Given the description of an element on the screen output the (x, y) to click on. 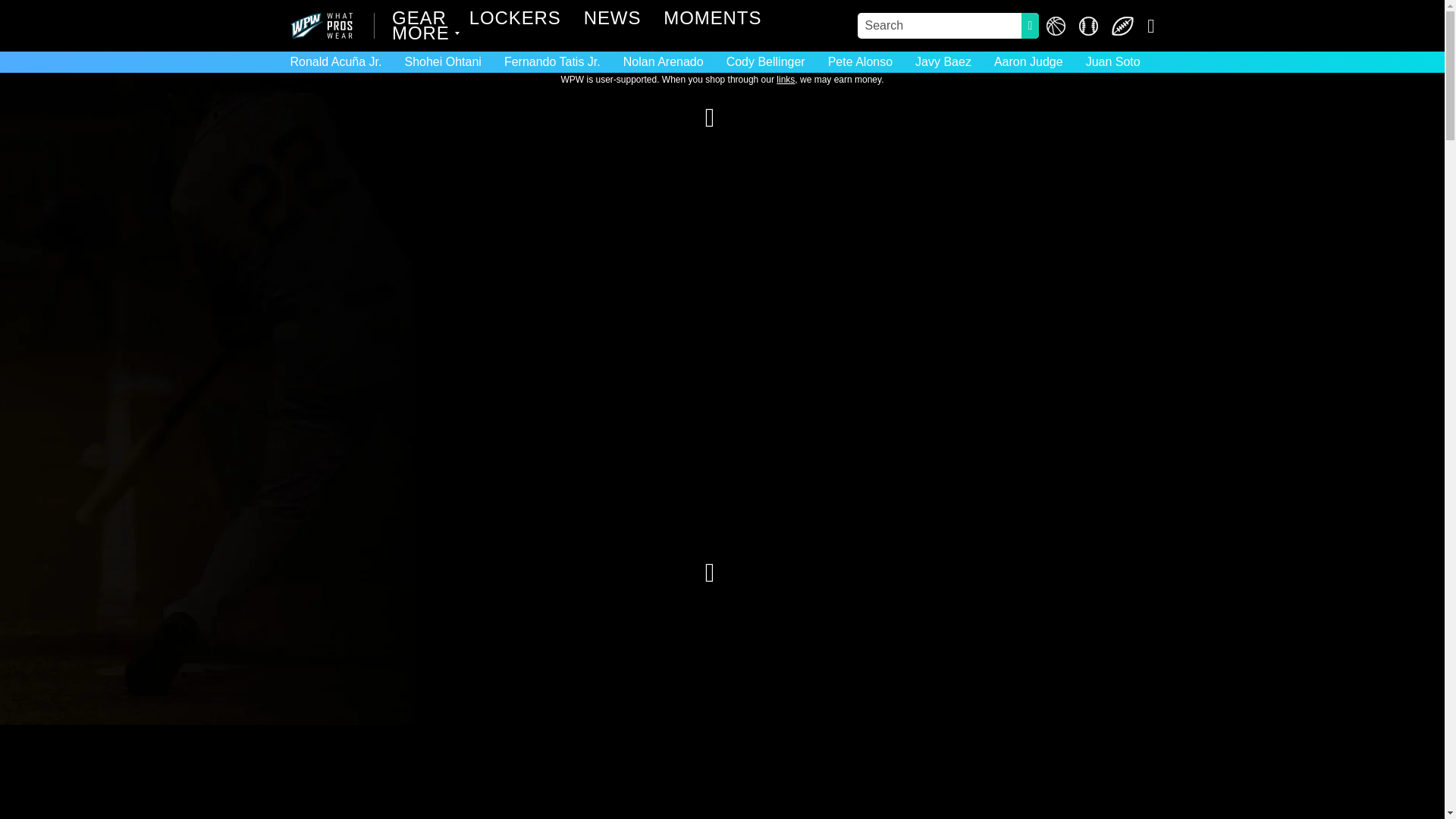
Nolan Arenado (662, 60)
MORE (421, 35)
Fernando Tatis Jr. (552, 60)
Lockers (514, 20)
Aaron Judge (1028, 60)
LOCKERS (514, 20)
Cody Bellinger (765, 60)
More (421, 35)
Pete Alonso (860, 60)
GEAR (418, 20)
NEWS (612, 20)
Javy Baez (943, 60)
News (612, 20)
MOMENTS (712, 20)
Moments (712, 20)
